Given the description of an element on the screen output the (x, y) to click on. 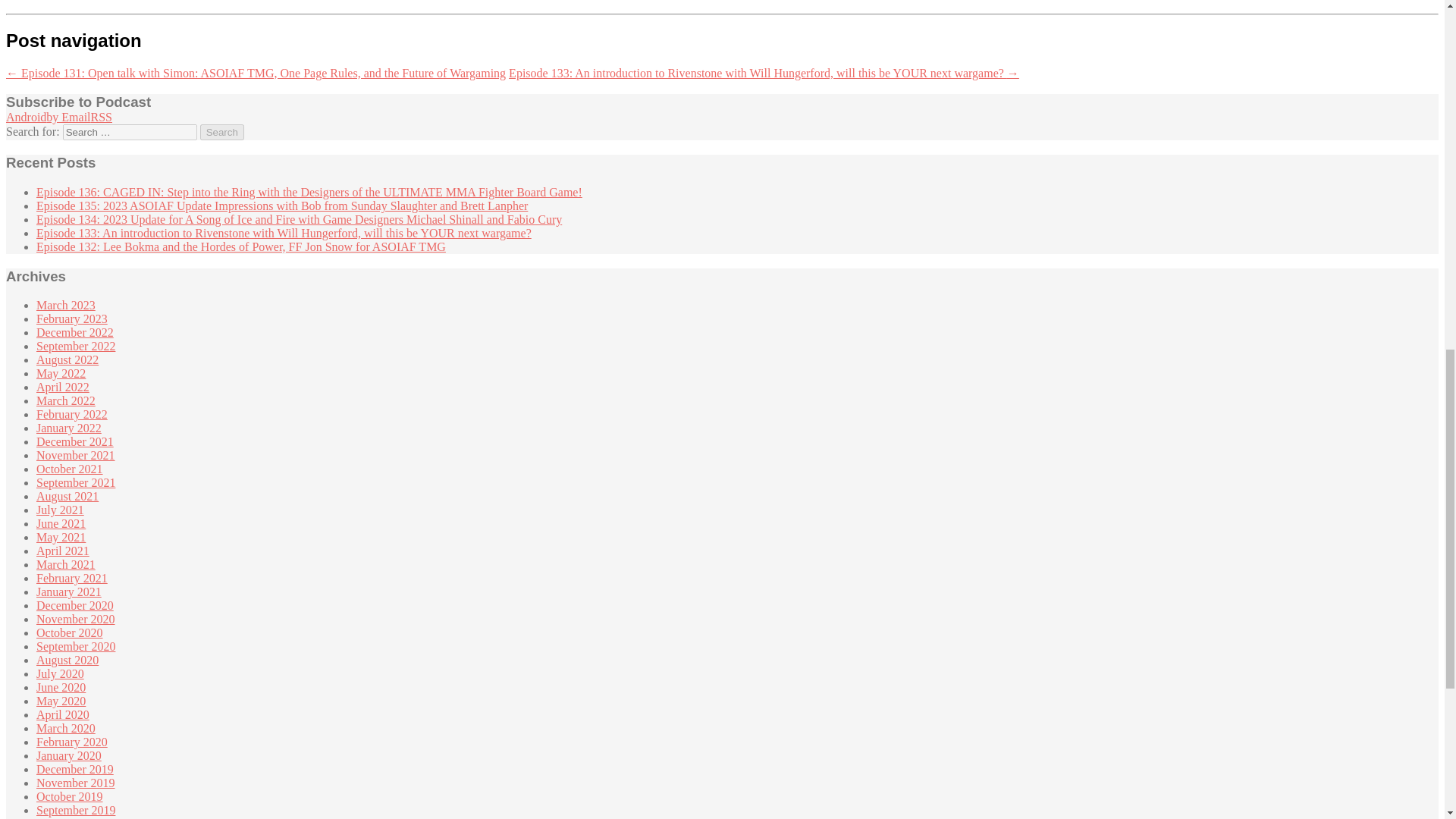
June 2021 (60, 522)
May 2022 (60, 373)
Search (222, 132)
March 2023 (66, 305)
April 2022 (62, 386)
October 2021 (69, 468)
March 2022 (66, 400)
RSS (101, 116)
September 2022 (75, 345)
Search for: (129, 132)
February 2022 (71, 413)
by Email (68, 116)
